Given the description of an element on the screen output the (x, y) to click on. 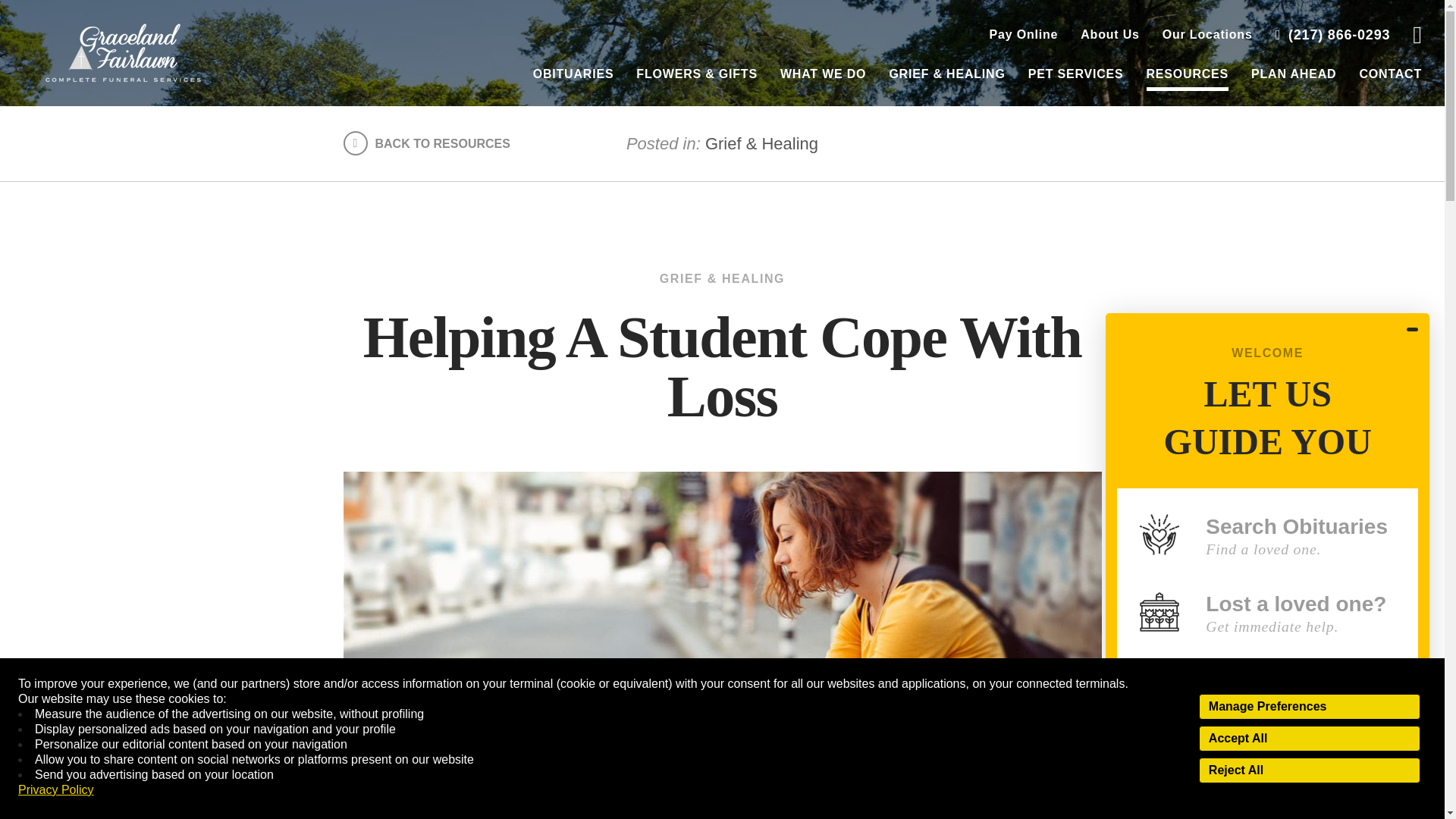
Accept All (1309, 738)
Reject All (1309, 769)
PET SERVICES (1075, 72)
OBITUARIES (573, 73)
Privacy Policy (55, 789)
Skip to content (32, 15)
Manage Preferences (1309, 706)
WHAT WE DO (823, 73)
RESOURCES (1187, 73)
